Given the description of an element on the screen output the (x, y) to click on. 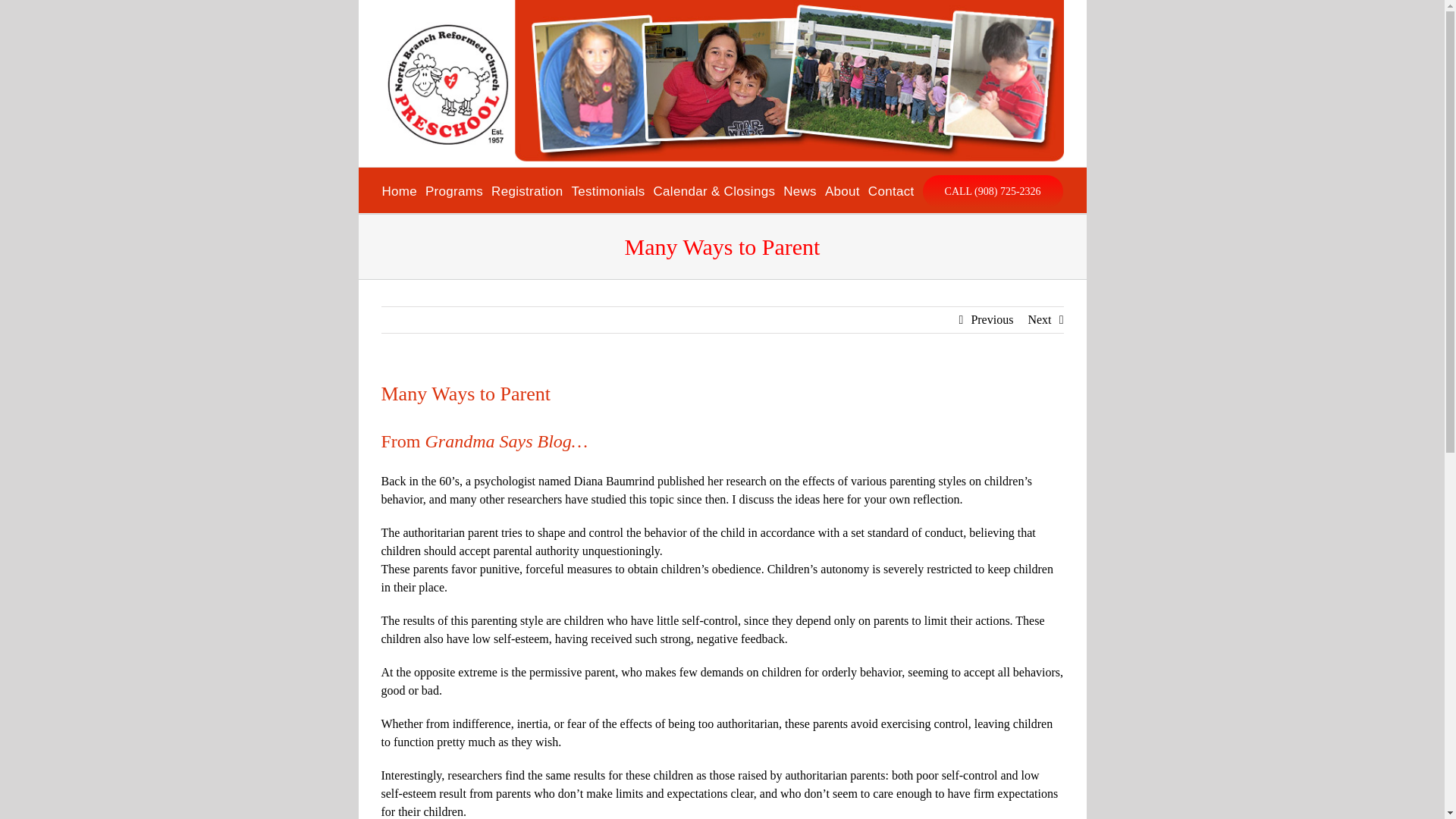
Contact (890, 189)
Testimonials (607, 189)
Programs (454, 189)
Registration (527, 189)
